Given the description of an element on the screen output the (x, y) to click on. 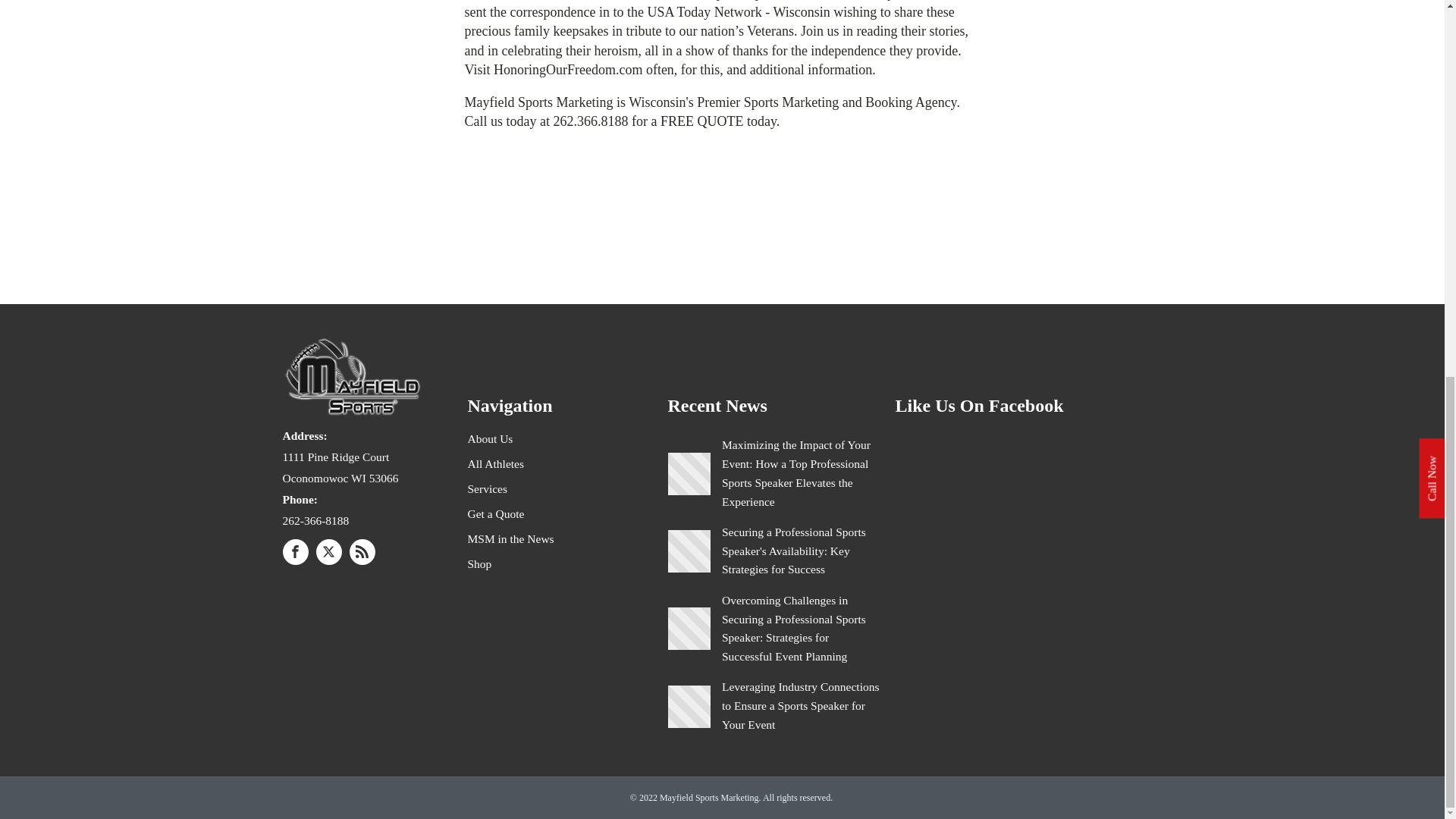
Shop (518, 561)
About Us (518, 437)
Get a Quote (518, 511)
Services (518, 487)
fb:page Facebook Social Plugin (1024, 549)
All Athletes (518, 462)
